Given the description of an element on the screen output the (x, y) to click on. 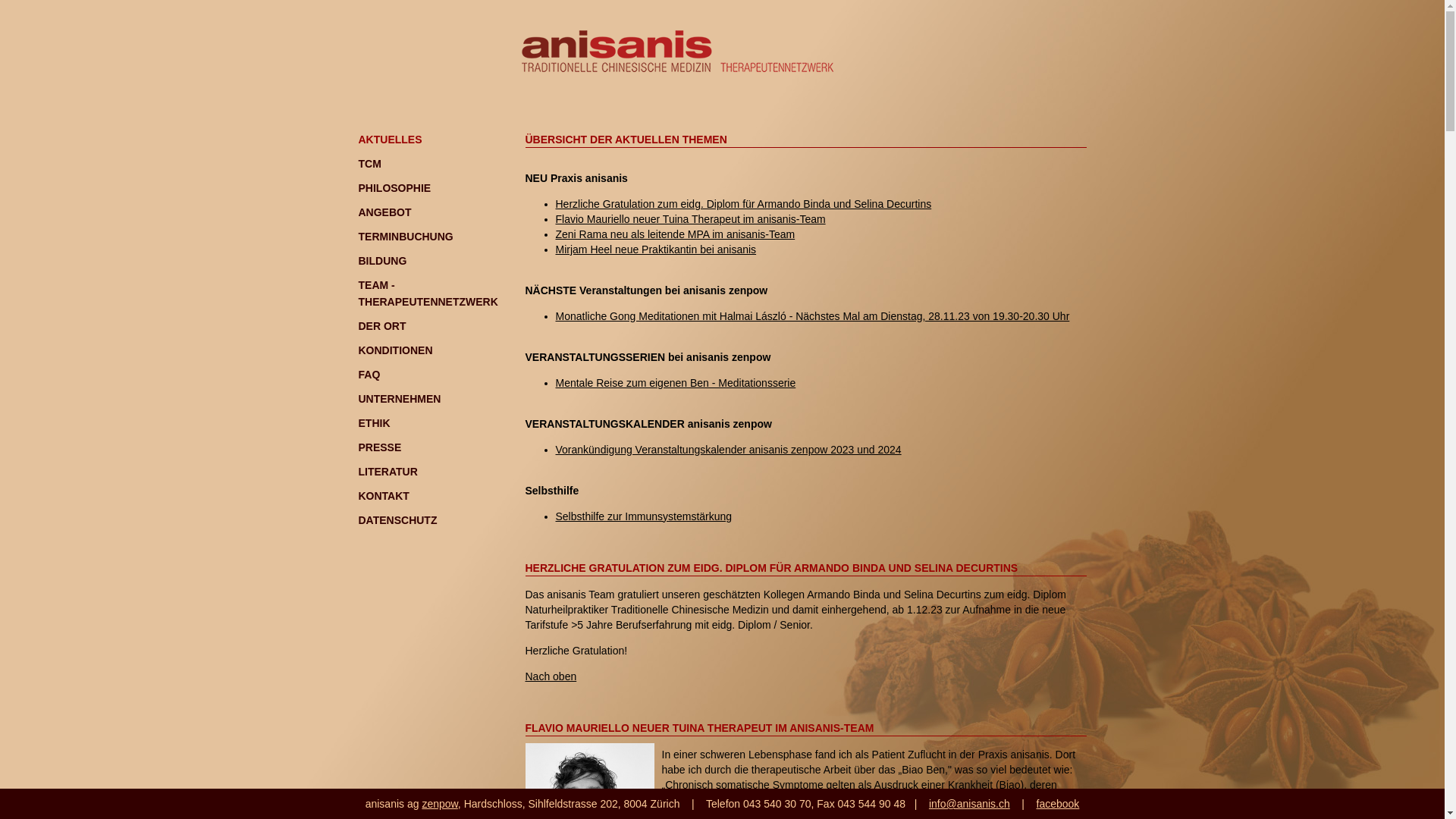
Nach oben Element type: text (550, 676)
ETHIK Element type: text (373, 423)
info@anisanis.ch Element type: text (969, 803)
PRESSE Element type: text (379, 447)
ANGEBOT Element type: text (384, 212)
TERMINBUCHUNG Element type: text (404, 236)
PHILOSOPHIE Element type: text (393, 188)
BILDUNG Element type: text (381, 260)
KONTAKT Element type: text (382, 495)
TCM Element type: text (368, 163)
zenpow Element type: text (439, 803)
KONDITIONEN Element type: text (394, 350)
FAQ Element type: text (368, 374)
facebook Element type: text (1057, 803)
LITERATUR Element type: text (387, 471)
TEAM - THERAPEUTENNETZWERK Element type: text (427, 293)
Zeni Rama neu als leitende MPA im anisanis-Team Element type: text (674, 234)
DER ORT Element type: text (381, 326)
Mentale Reise zum eigenen Ben - Meditationsserie Element type: text (675, 382)
AKTUELLES Element type: text (389, 139)
UNTERNEHMEN Element type: text (398, 398)
DATENSCHUTZ Element type: text (396, 520)
Mirjam Heel neue Praktikantin bei anisanis Element type: text (655, 249)
Flavio Mauriello neuer Tuina Therapeut im anisanis-Team Element type: text (690, 219)
